Given the description of an element on the screen output the (x, y) to click on. 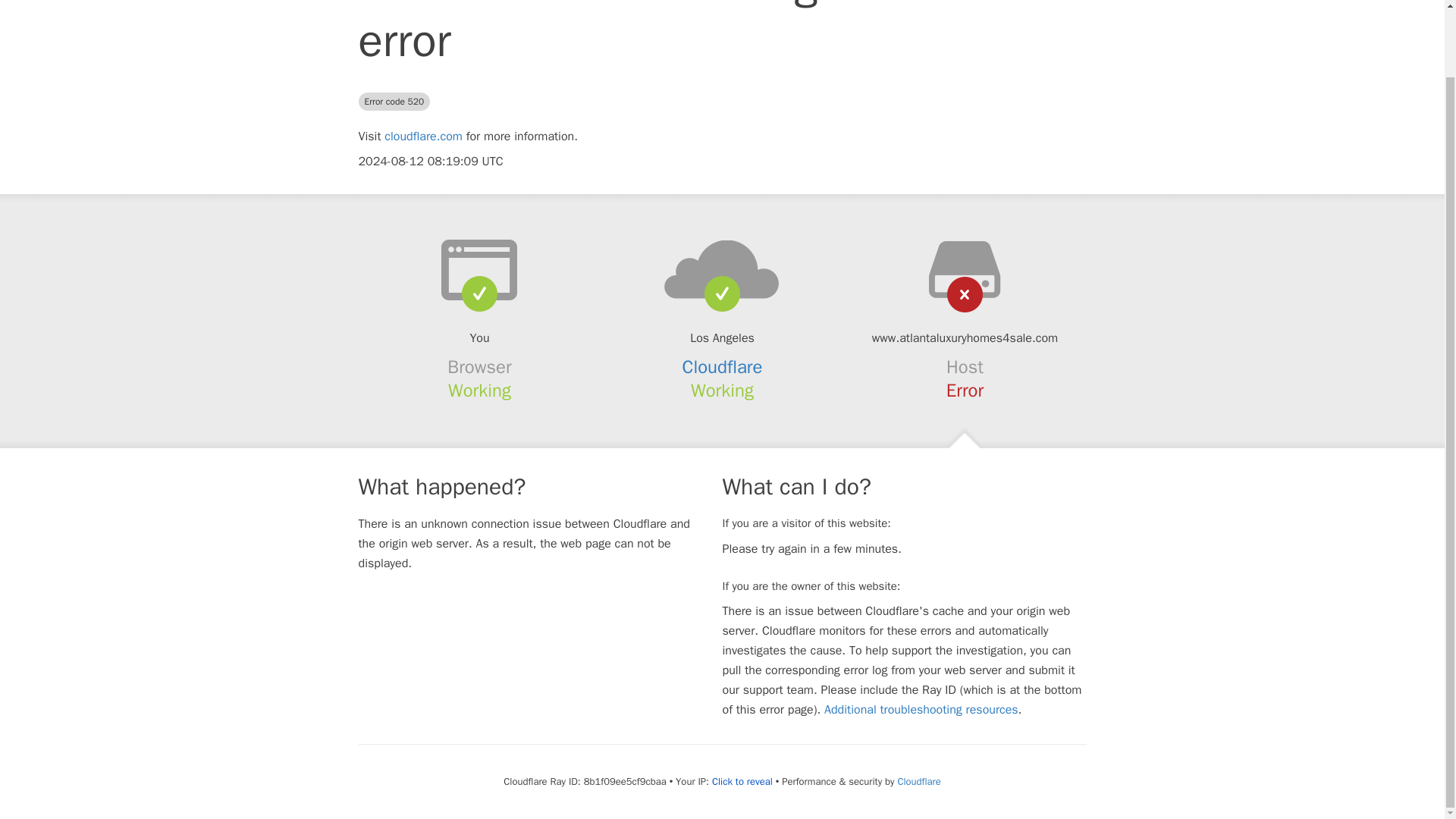
Cloudflare (722, 366)
Additional troubleshooting resources (920, 709)
Click to reveal (742, 781)
Cloudflare (918, 780)
cloudflare.com (423, 136)
